Given the description of an element on the screen output the (x, y) to click on. 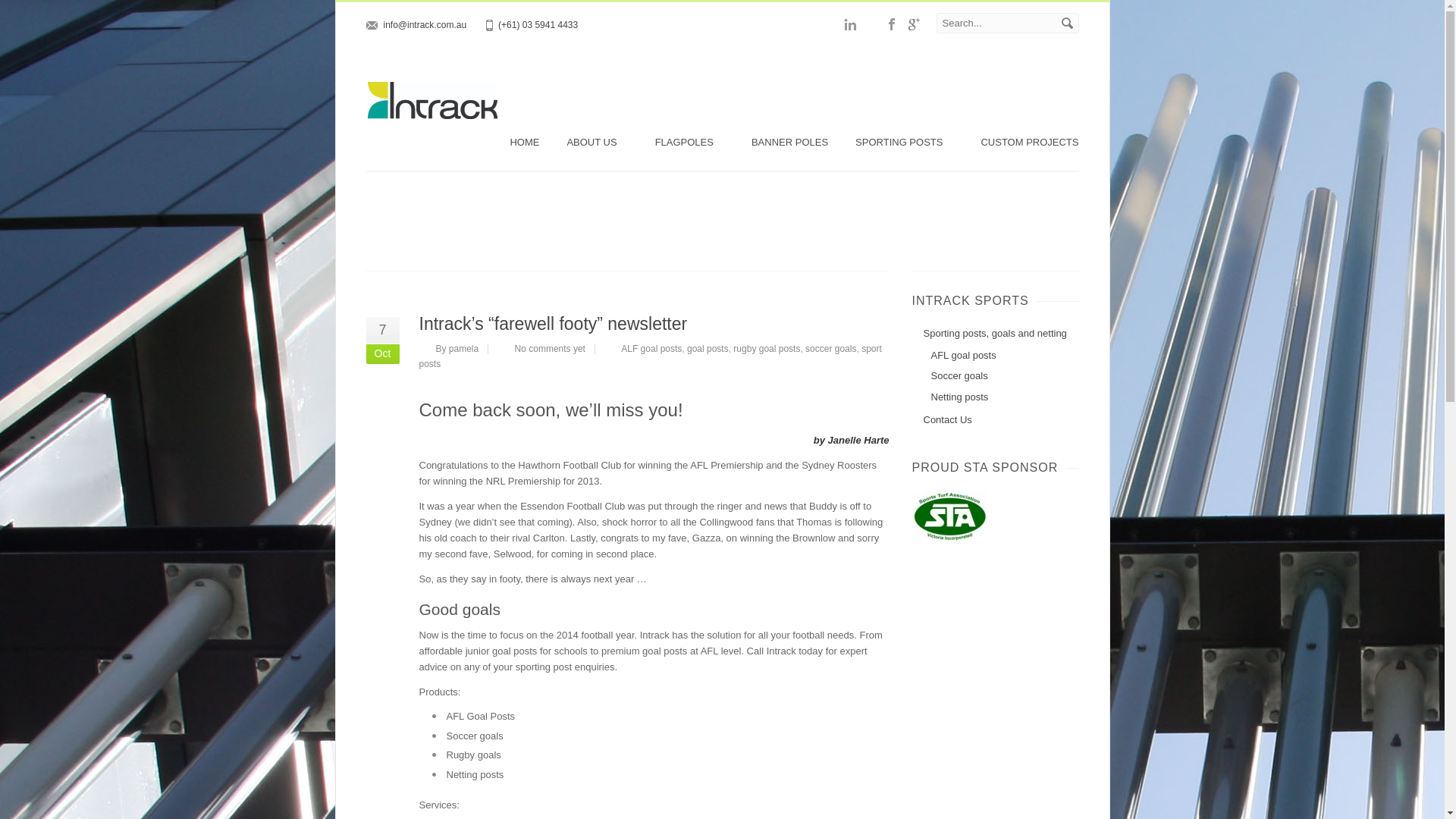
CUSTOM PROJECTS (1029, 142)
facebook (891, 24)
HOME (524, 142)
linkedin (849, 24)
Facebook (891, 24)
sport posts (649, 356)
No comments yet (550, 348)
SPORTING POSTS (903, 142)
Intrack (431, 115)
rugby goal posts (766, 348)
